Given the description of an element on the screen output the (x, y) to click on. 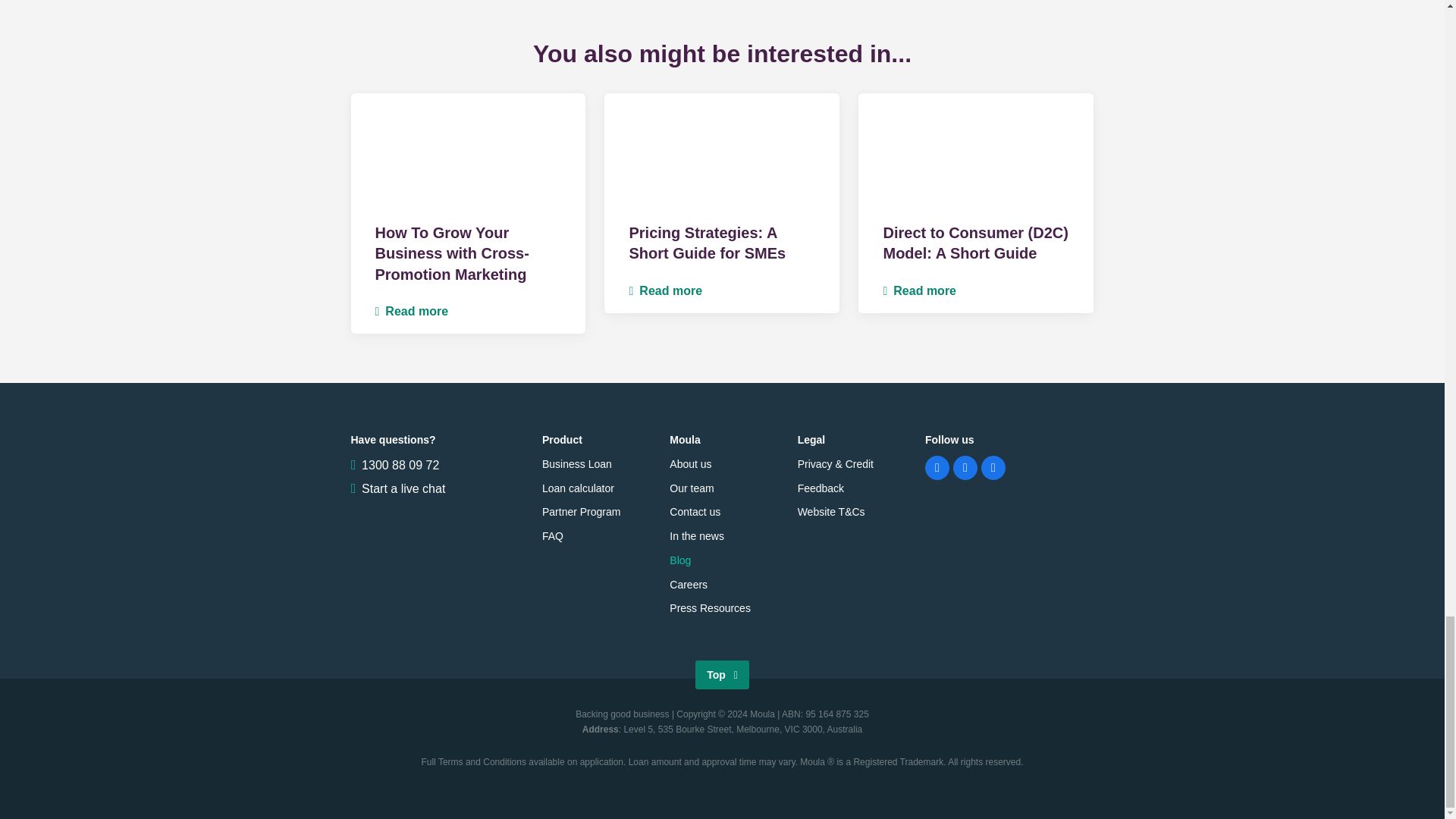
Read more (664, 289)
Facebook (936, 467)
How To Grow Your Business with Cross-Promotion Marketing (451, 253)
Pricing Strategies: A Short Guide for SMEs (707, 243)
Pricing Strategies: A Short Guide for SMEs (722, 150)
How To Grow Your Business with Cross-Promotion Marketing (467, 150)
Read more (919, 289)
Read more (411, 310)
LinkedIn (964, 467)
Instagram (993, 467)
